Given the description of an element on the screen output the (x, y) to click on. 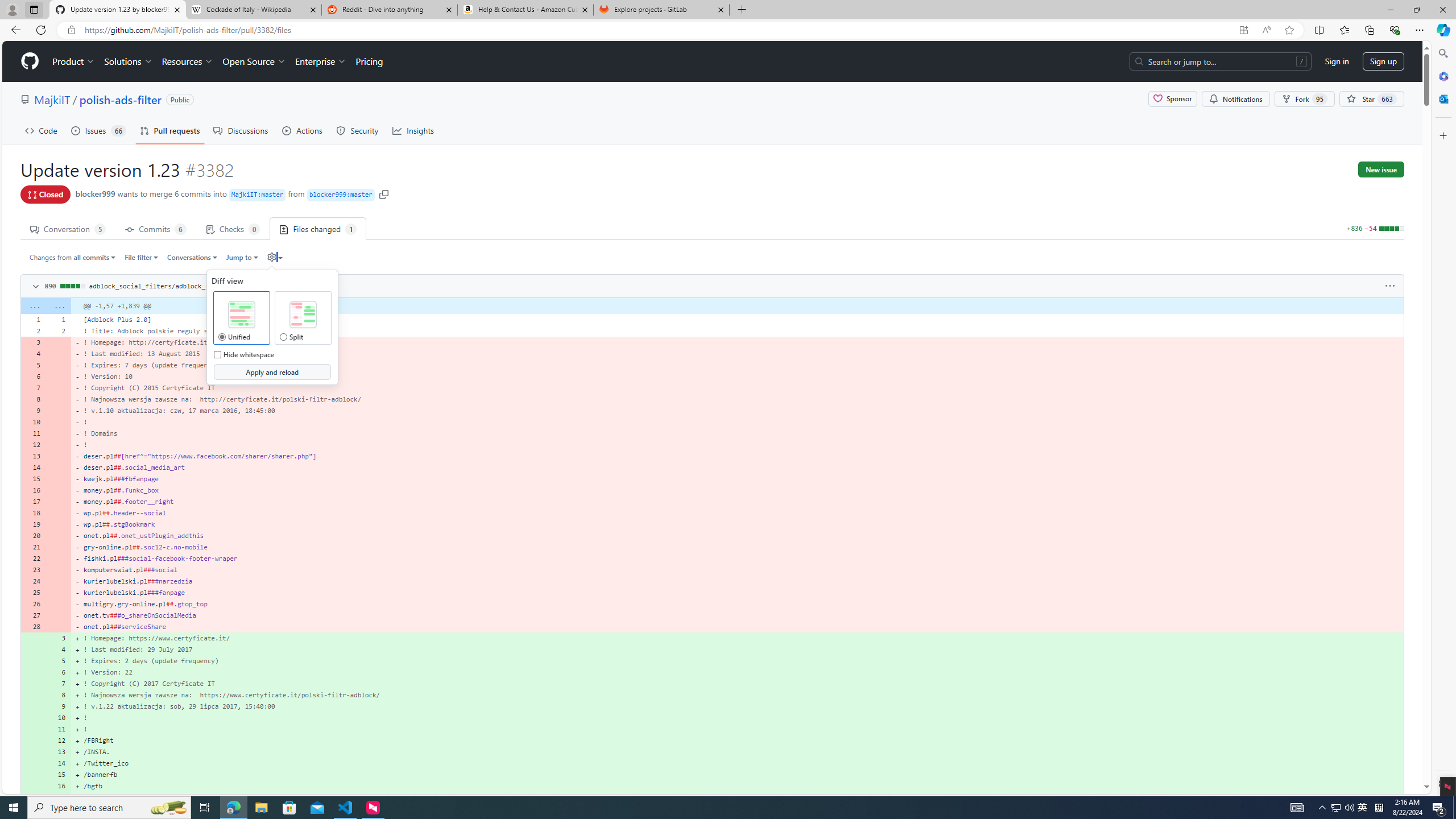
+ /Twitter_ico  (737, 763)
MajkiIT (51, 99)
! Title: Adblock polskie reguly social (737, 330)
- ! Last modified: 13 August 2015 (737, 353)
Split Diff View (302, 314)
17 (58, 797)
4 (58, 649)
1 (58, 319)
